Given the description of an element on the screen output the (x, y) to click on. 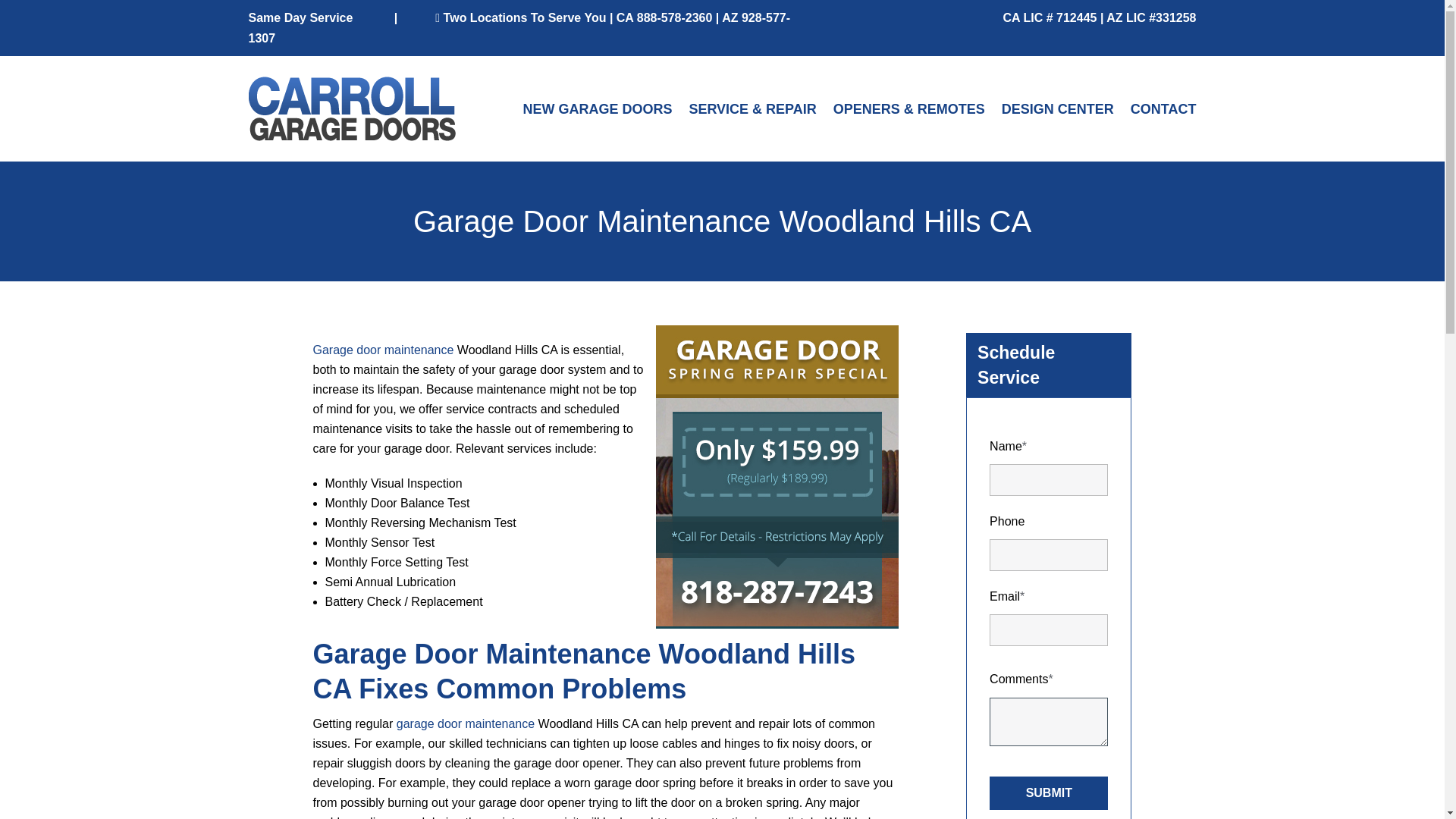
garage door maintenance (465, 723)
SUBMIT (1049, 792)
CONTACT (1163, 109)
NEW GARAGE DOORS (596, 109)
DESIGN CENTER (1057, 109)
Garage door maintenance (382, 349)
